Given the description of an element on the screen output the (x, y) to click on. 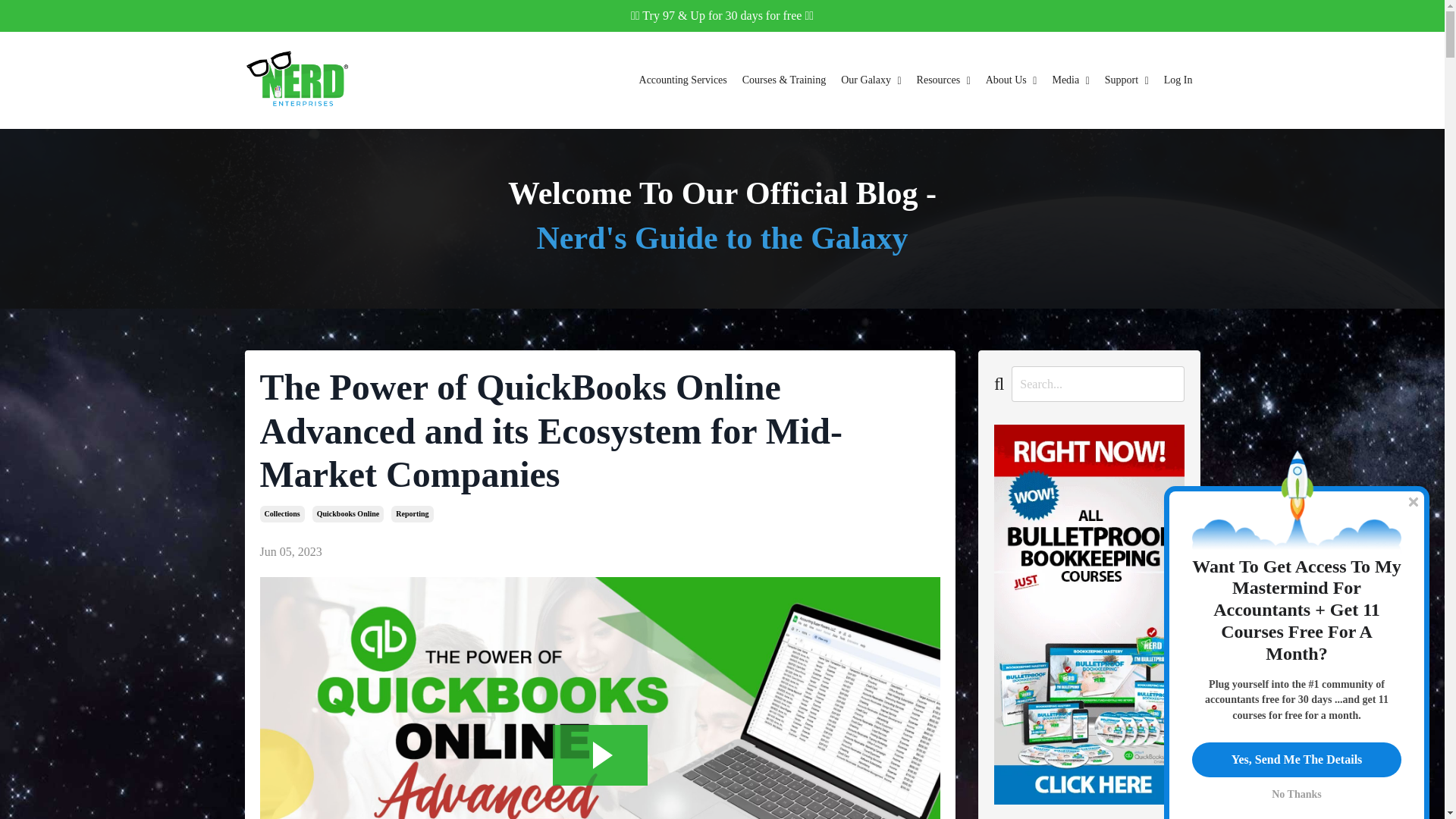
About Us (1010, 80)
Support (1126, 80)
Yes, Send Me The Details (1296, 759)
Nerd's Guide to the Galaxy (722, 237)
Close (1413, 501)
Our Galaxy (871, 80)
Log In (1177, 79)
Media (1070, 80)
Accounting Services (682, 80)
Collections (281, 514)
Quickbooks Online (348, 514)
Resources (944, 80)
No Thanks (1296, 791)
Reporting (411, 514)
